Given the description of an element on the screen output the (x, y) to click on. 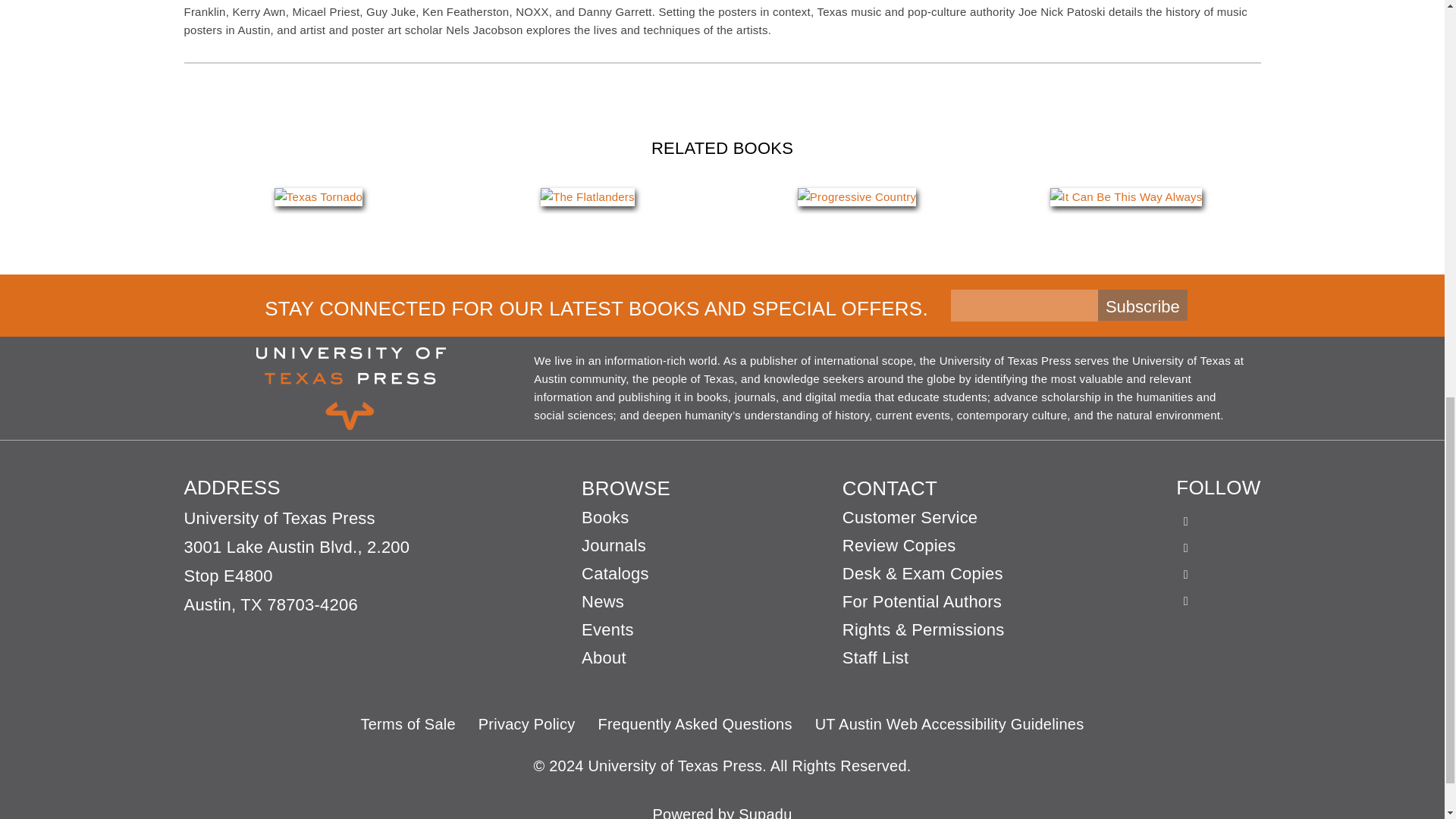
Texas Tornado (318, 197)
Follow us on Instagram (1185, 566)
It Can Be This Way Always (1125, 197)
isbn-carousel (721, 196)
The Flatlanders (587, 197)
Subscribe (1142, 305)
Follow us on Facebook (1185, 513)
Progressive Country (856, 197)
